Given the description of an element on the screen output the (x, y) to click on. 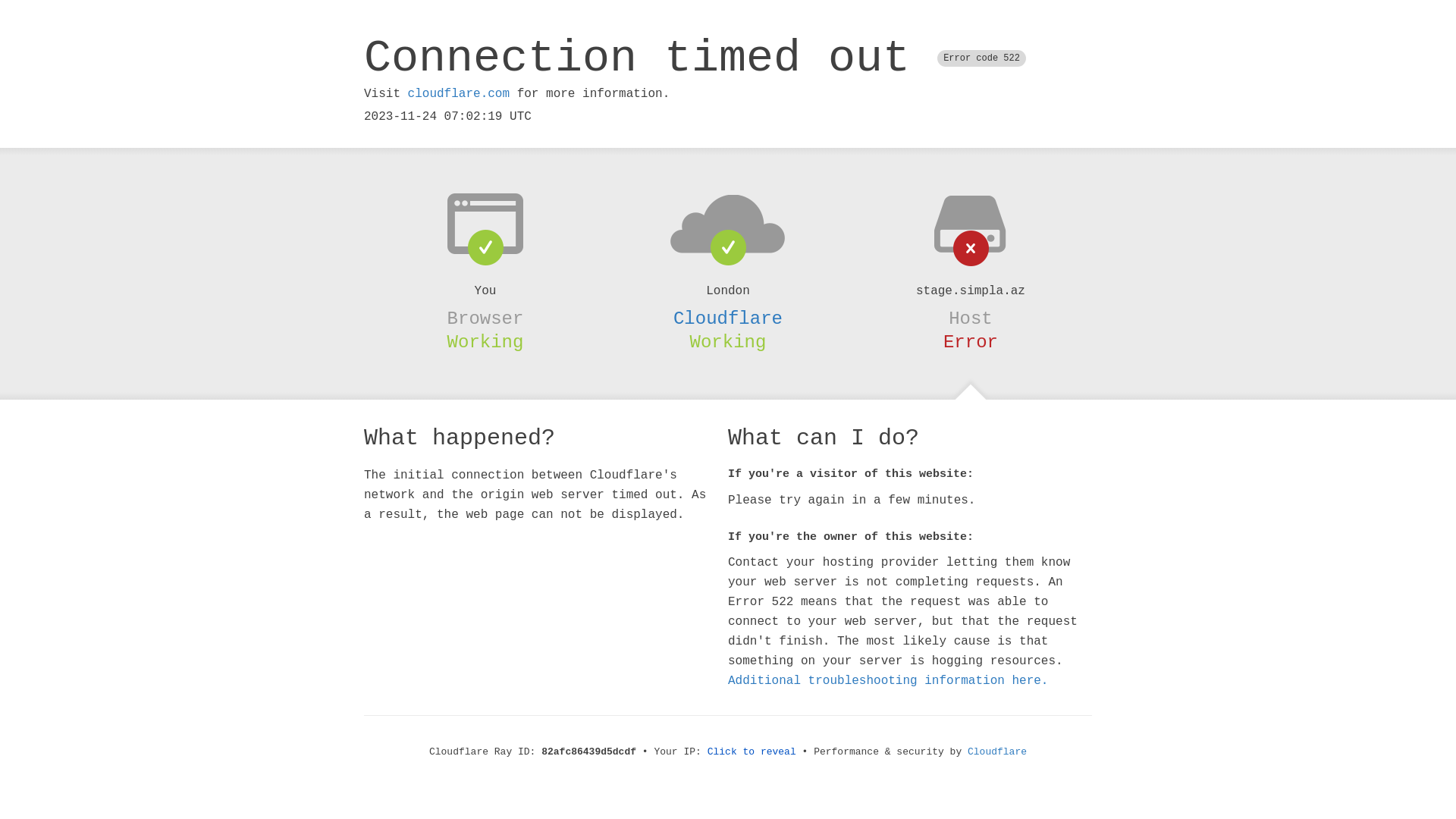
Additional troubleshooting information here. Element type: text (888, 680)
cloudflare.com Element type: text (458, 93)
Cloudflare Element type: text (727, 318)
Click to reveal Element type: text (751, 751)
Cloudflare Element type: text (996, 751)
